Given the description of an element on the screen output the (x, y) to click on. 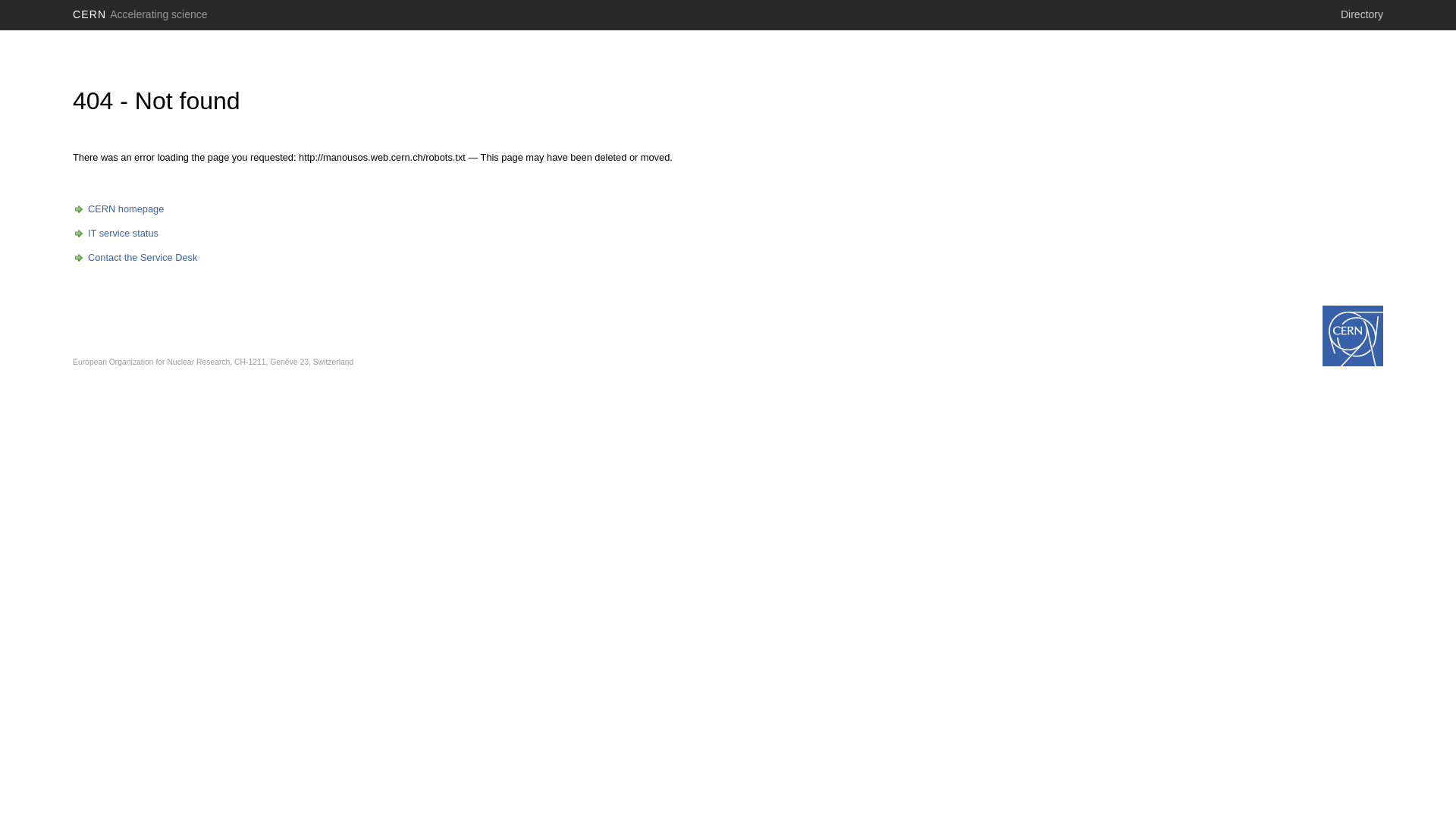
www.cern.ch Element type: hover (1352, 335)
IT service status Element type: text (115, 232)
CERN Accelerating science Element type: text (139, 14)
Contact the Service Desk Element type: text (134, 257)
CERN homepage Element type: text (117, 208)
Directory Element type: text (1361, 14)
